Given the description of an element on the screen output the (x, y) to click on. 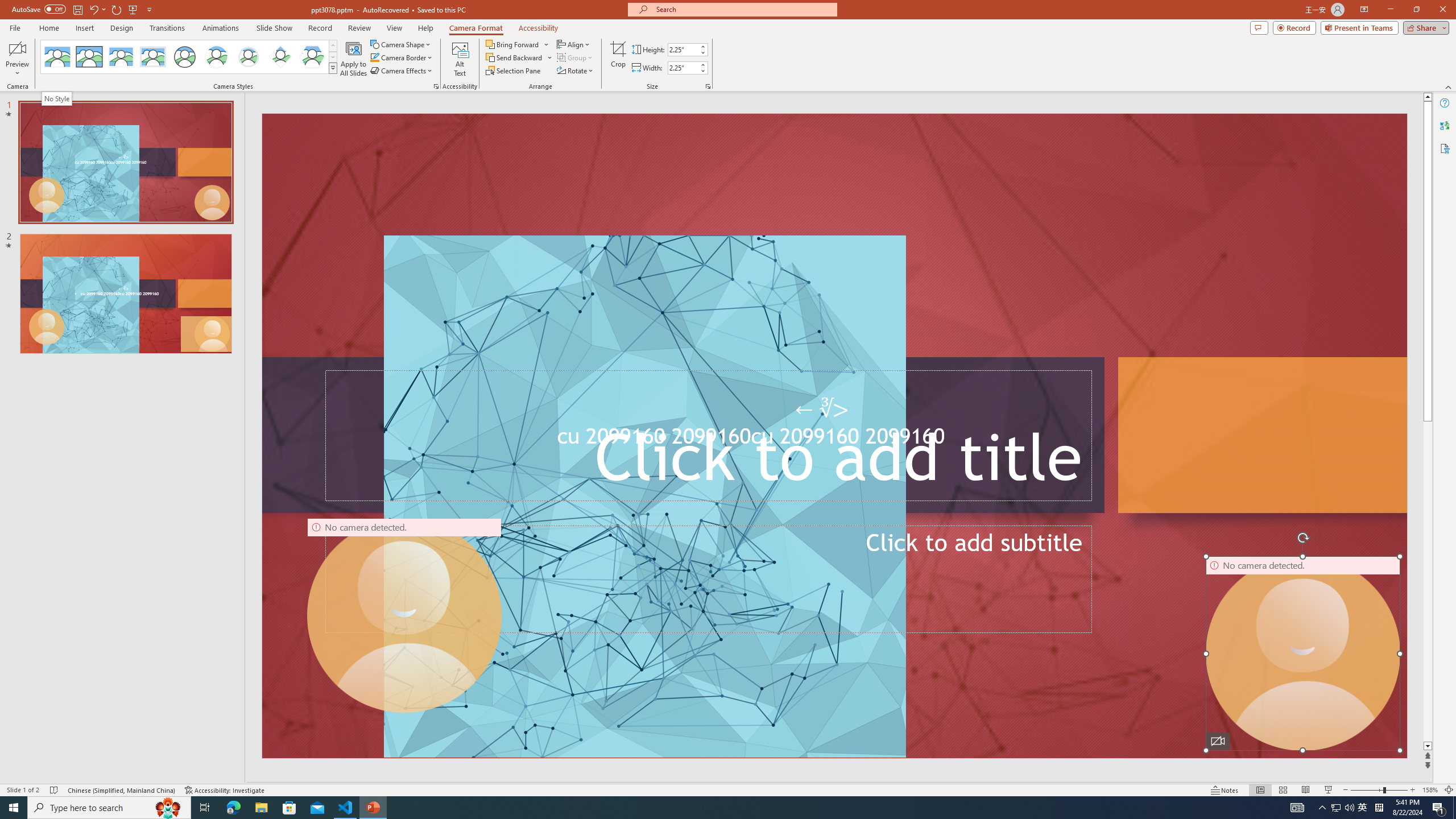
Size and Position... (707, 85)
Camera Border Green, Accent 1 (374, 56)
TextBox 61 (832, 438)
Center Shadow Circle (216, 56)
